Given the description of an element on the screen output the (x, y) to click on. 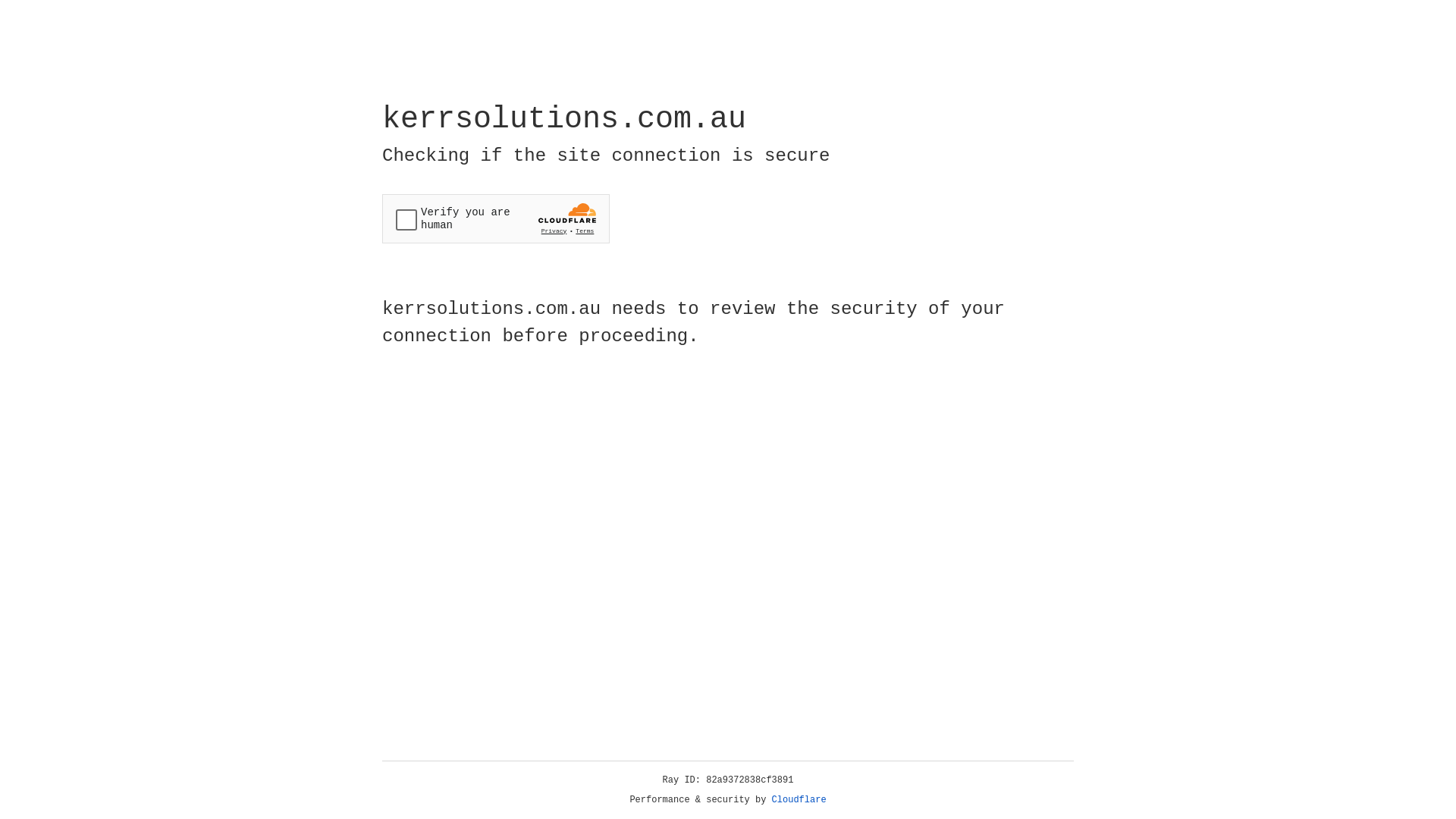
Widget containing a Cloudflare security challenge Element type: hover (495, 218)
Cloudflare Element type: text (798, 799)
